Given the description of an element on the screen output the (x, y) to click on. 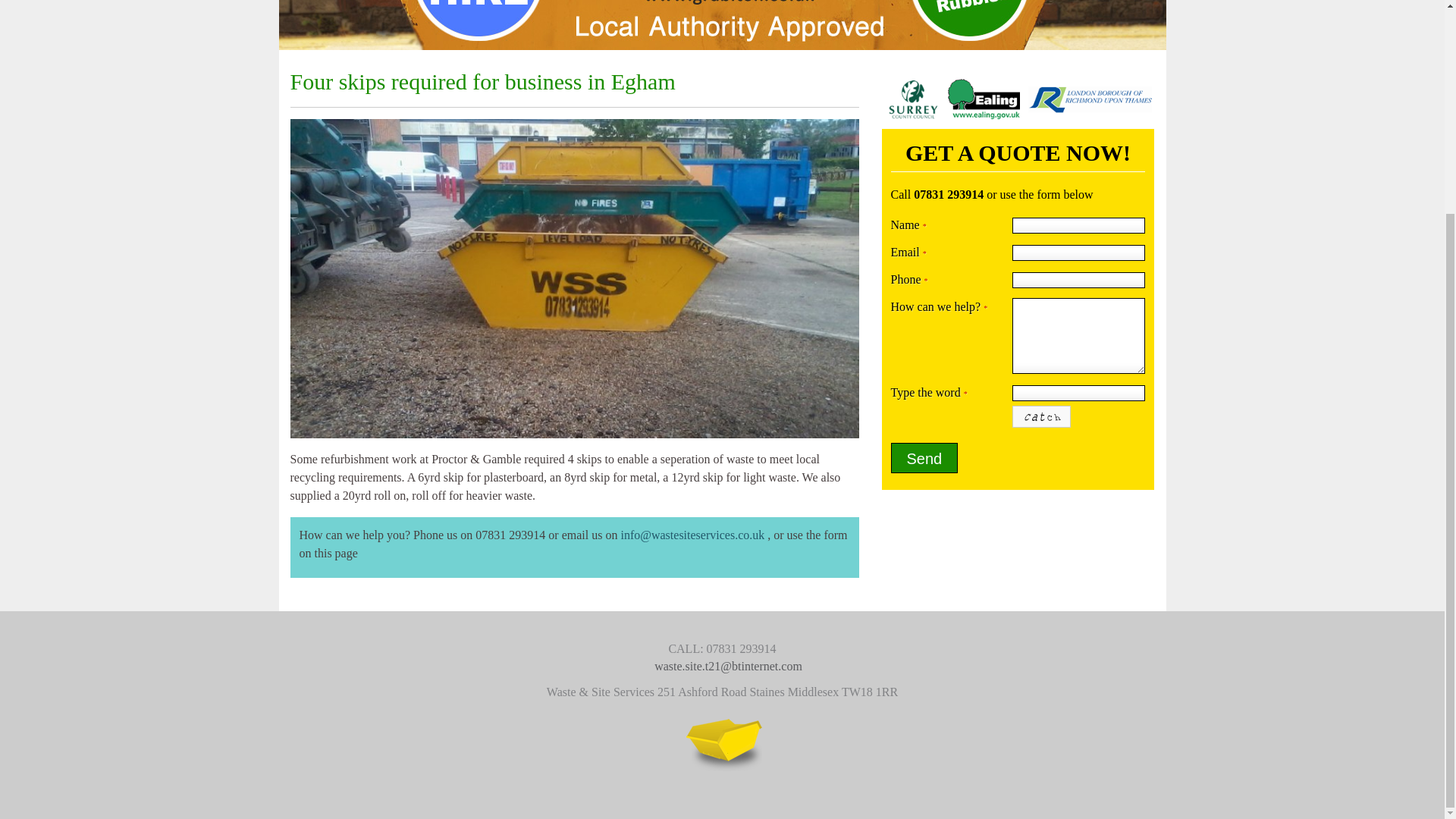
Send (923, 458)
